Given the description of an element on the screen output the (x, y) to click on. 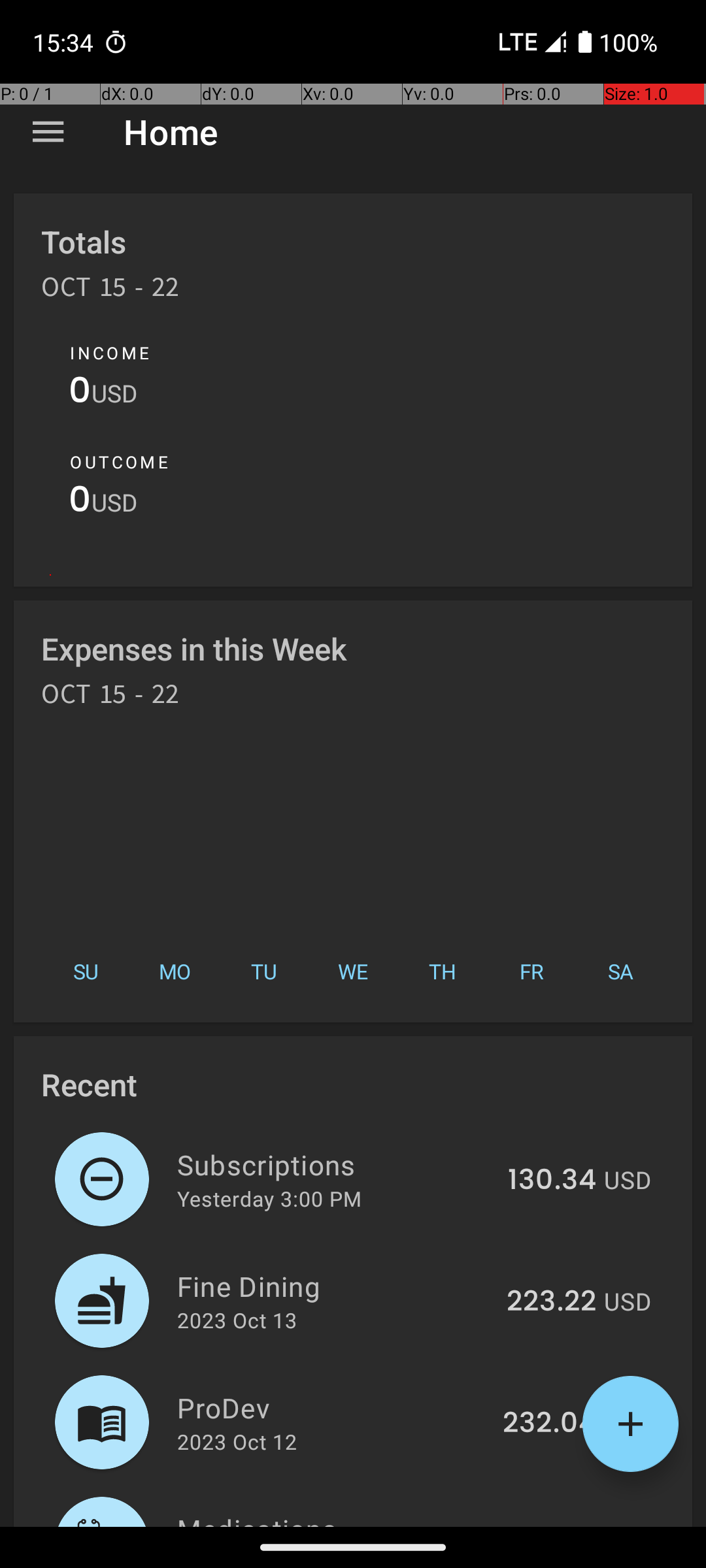
Yesterday 3:00 PM Element type: android.widget.TextView (269, 1198)
130.34 Element type: android.widget.TextView (551, 1180)
Fine Dining Element type: android.widget.TextView (334, 1285)
223.22 Element type: android.widget.TextView (550, 1301)
ProDev Element type: android.widget.TextView (332, 1407)
232.04 Element type: android.widget.TextView (549, 1423)
Medications Element type: android.widget.TextView (355, 1518)
168 Element type: android.widget.TextView (572, 1524)
